Given the description of an element on the screen output the (x, y) to click on. 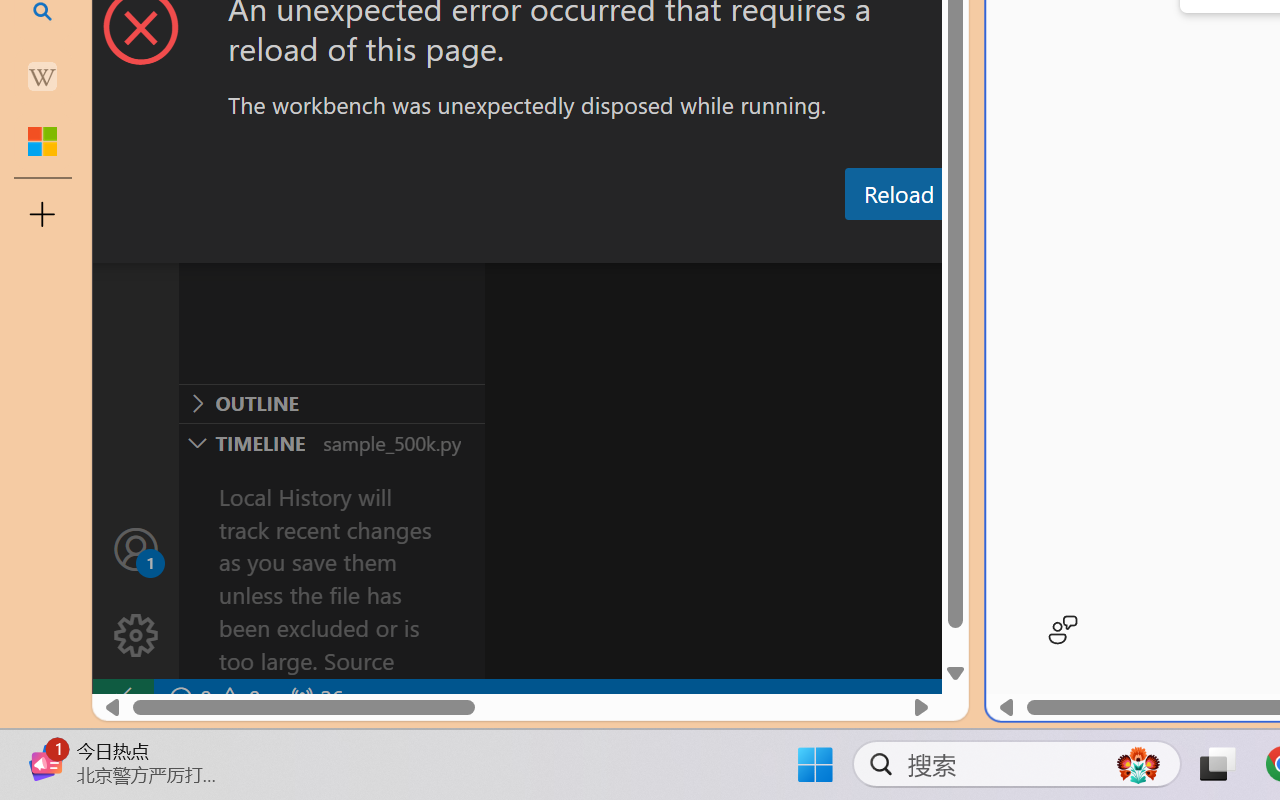
Output (Ctrl+Shift+U) (696, 243)
remote (122, 698)
Accounts - Sign in requested (135, 548)
Terminal (Ctrl+`) (1021, 243)
Debug Console (Ctrl+Shift+Y) (854, 243)
